Given the description of an element on the screen output the (x, y) to click on. 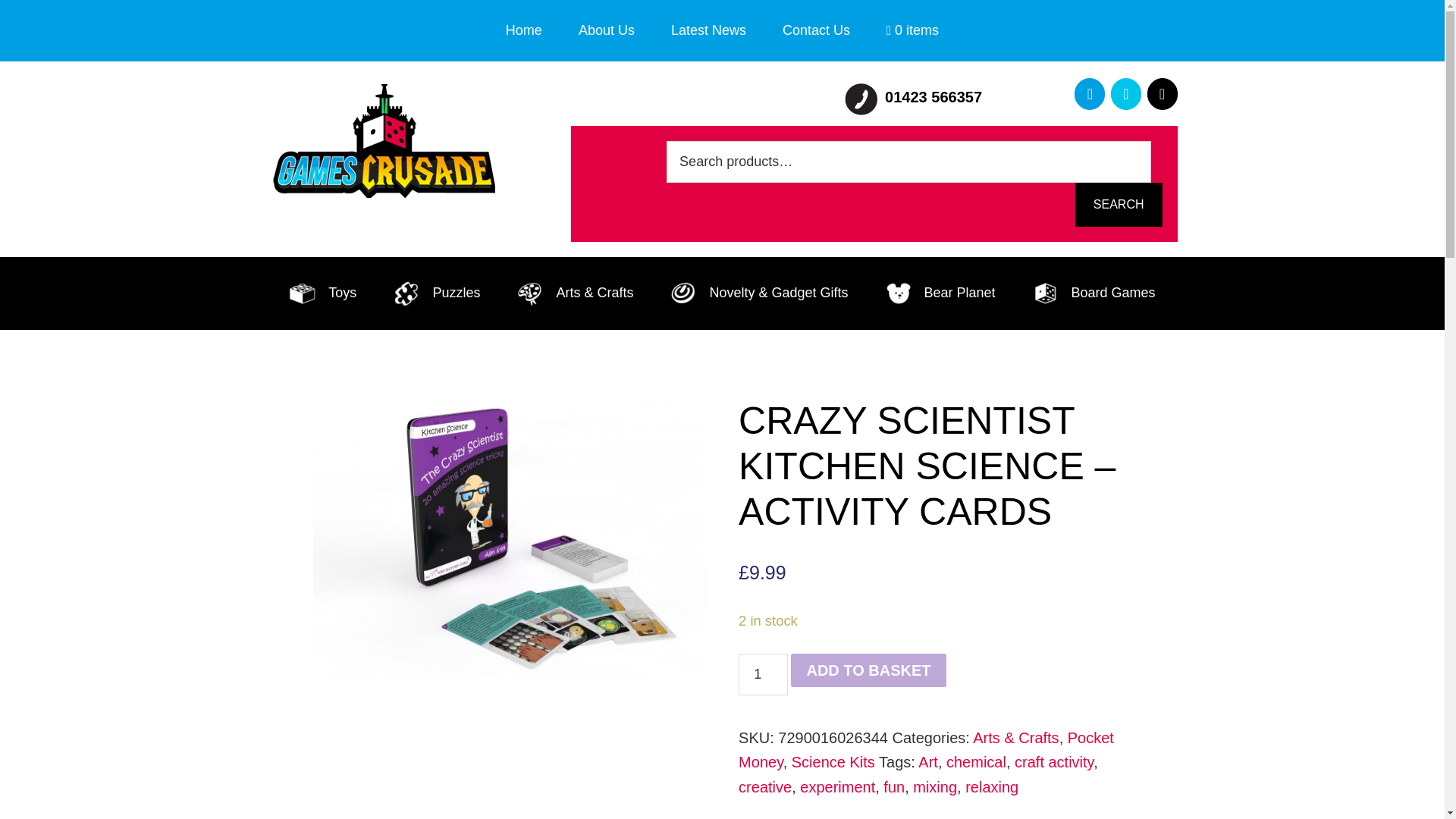
About Us (606, 29)
Games Crusade on Instagram (1161, 93)
Puzzles (435, 293)
kitchen (508, 539)
Start shopping (911, 30)
Home (523, 29)
Games Crusade on X Twitter (1125, 93)
Toys (322, 293)
SEARCH (1118, 204)
Games Crusade (380, 141)
0 items (911, 30)
1 (762, 674)
Contact Us (815, 29)
Latest News (708, 29)
Games Crusade on Facebook (1089, 93)
